Given the description of an element on the screen output the (x, y) to click on. 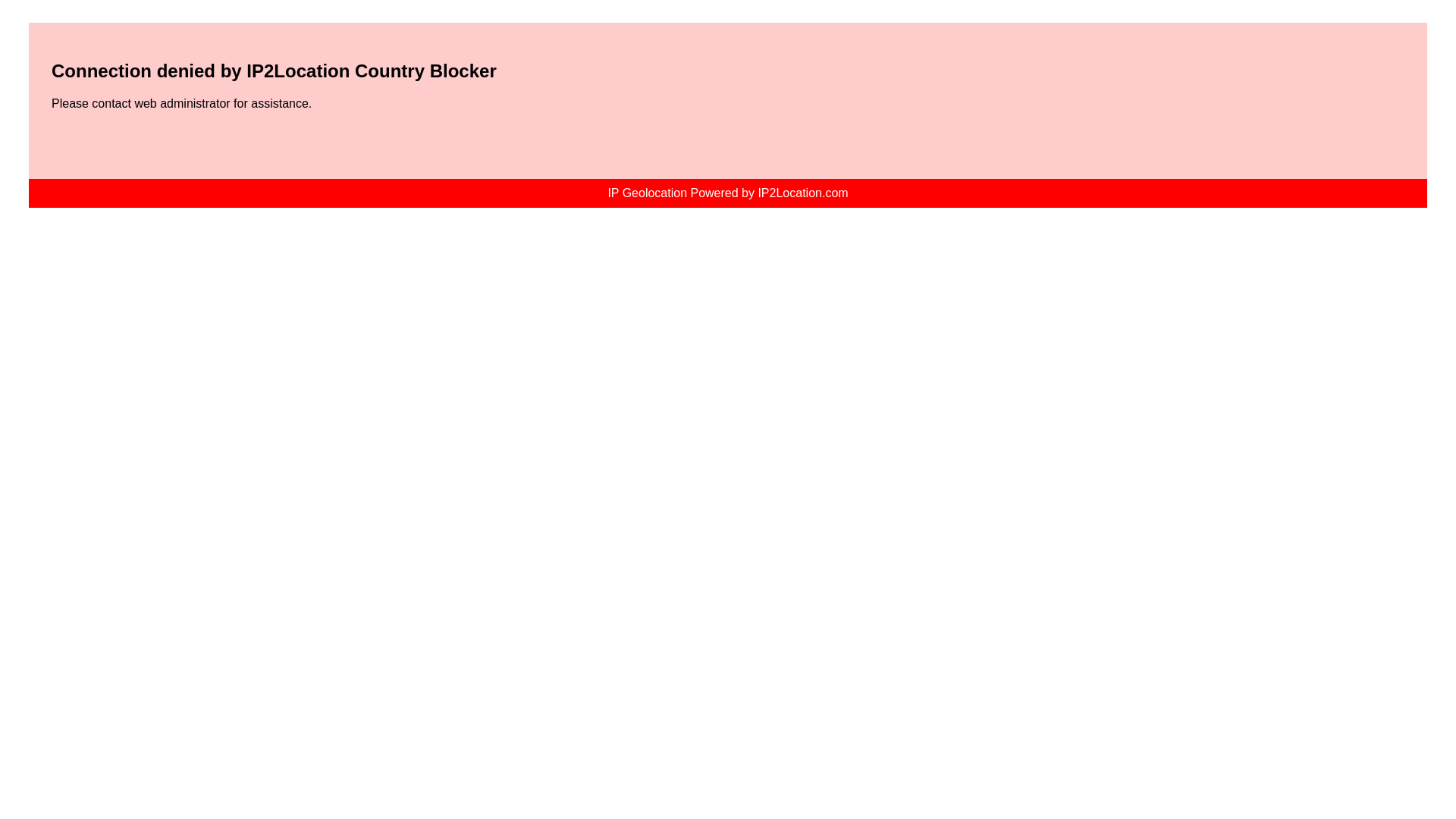
IP Geolocation Powered by IP2Location.com Element type: text (727, 192)
